Given the description of an element on the screen output the (x, y) to click on. 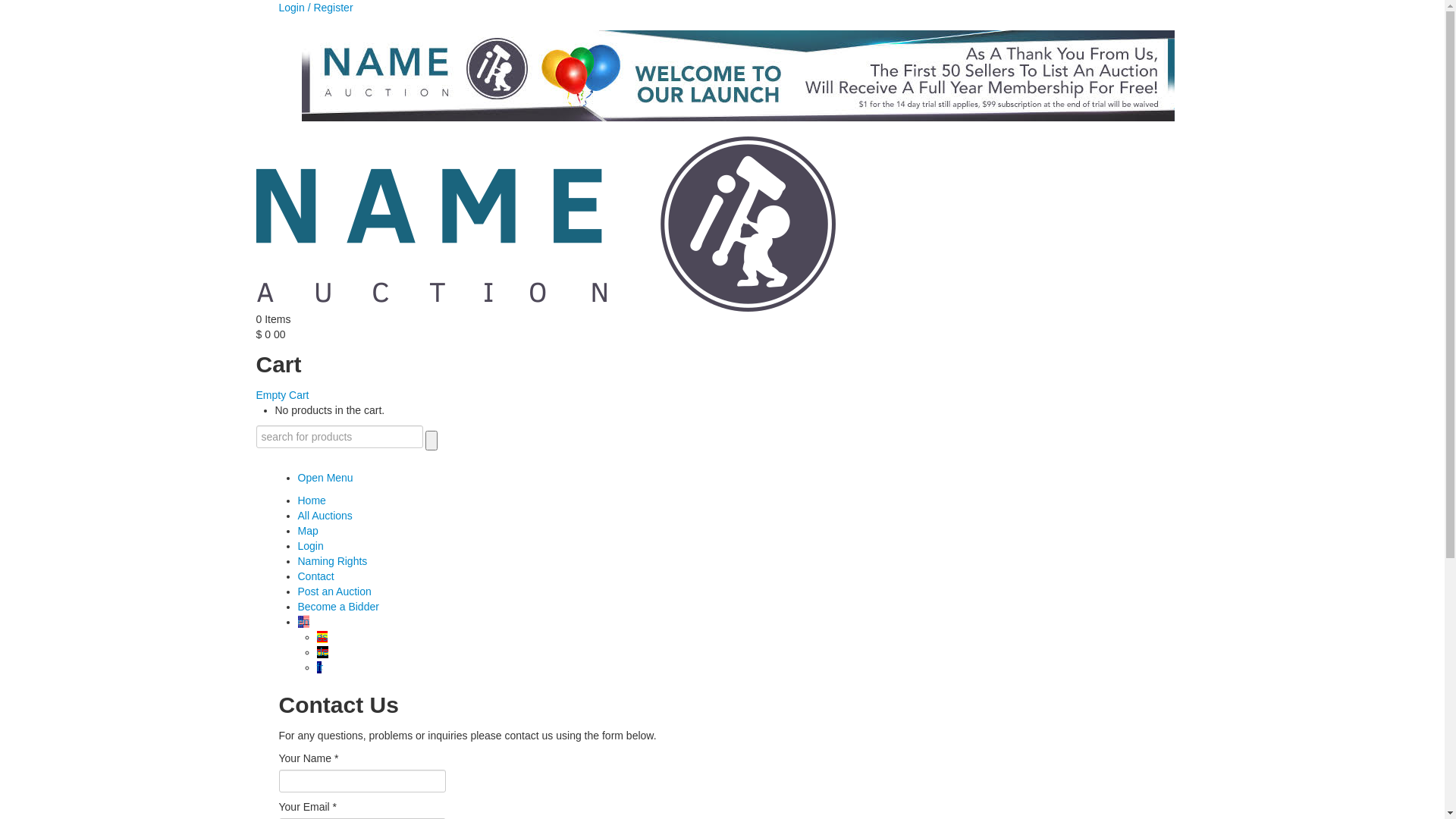
fr Element type: text (319, 667)
Open Menu Element type: text (324, 477)
Contact Element type: text (315, 576)
NameIt Element type: hover (545, 223)
NameIt Element type: hover (545, 222)
Naming Rights Element type: text (332, 561)
de Element type: text (322, 652)
All Auctions Element type: text (324, 515)
Login / Register Element type: text (316, 7)
Post an Auction Element type: text (333, 591)
Empty Cart Element type: text (282, 395)
Become a Bidder Element type: text (337, 606)
es Element type: text (322, 636)
en Element type: text (303, 621)
Map Element type: text (307, 530)
Login Element type: text (310, 545)
Home Element type: text (311, 500)
